Given the description of an element on the screen output the (x, y) to click on. 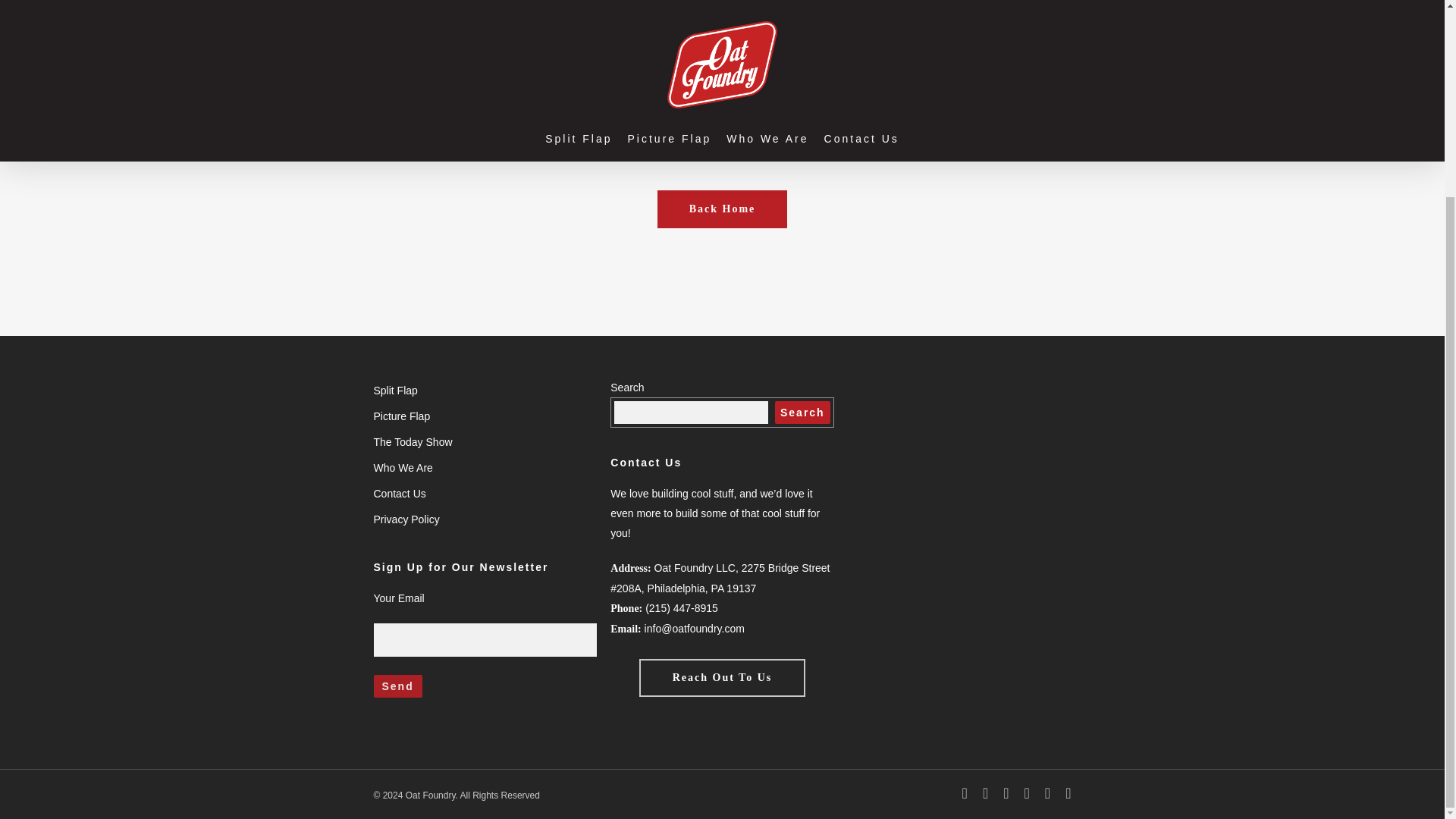
Search (801, 412)
The Today Show (483, 442)
facebook (985, 793)
Split Flap (483, 390)
Send (397, 685)
Reach Out To Us (722, 677)
Contact Us (483, 493)
twitter (965, 793)
pinterest (1006, 793)
Picture Flap (483, 415)
Who We Are (483, 467)
Back Home (722, 209)
Send (397, 685)
Privacy Policy (483, 519)
